Given the description of an element on the screen output the (x, y) to click on. 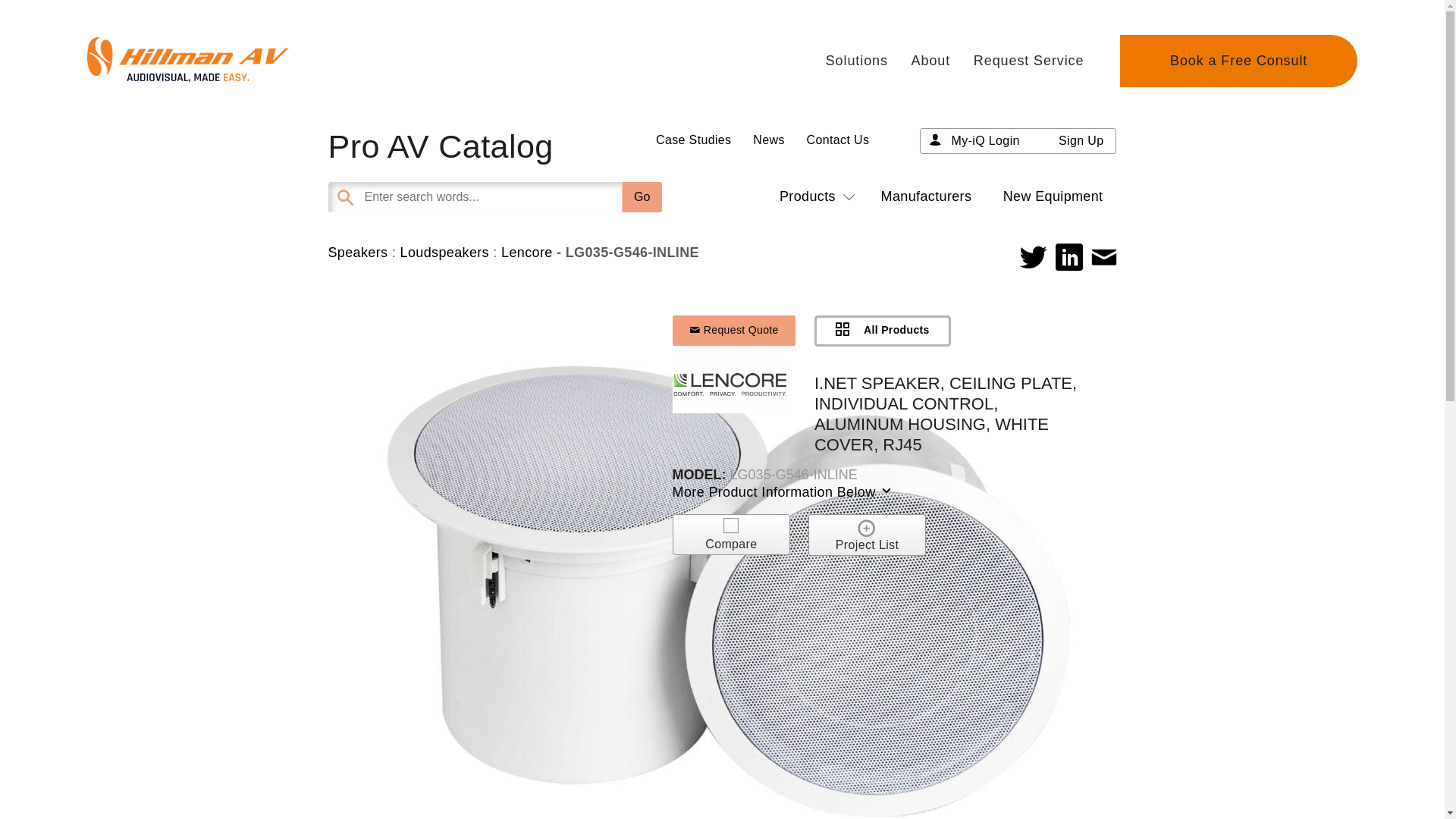
About (930, 60)
Go (641, 196)
Solutions (856, 60)
Book a Free Consult (1237, 60)
Go (641, 196)
Request Service (1029, 60)
lencore (729, 384)
Enter search words... (531, 196)
